Given the description of an element on the screen output the (x, y) to click on. 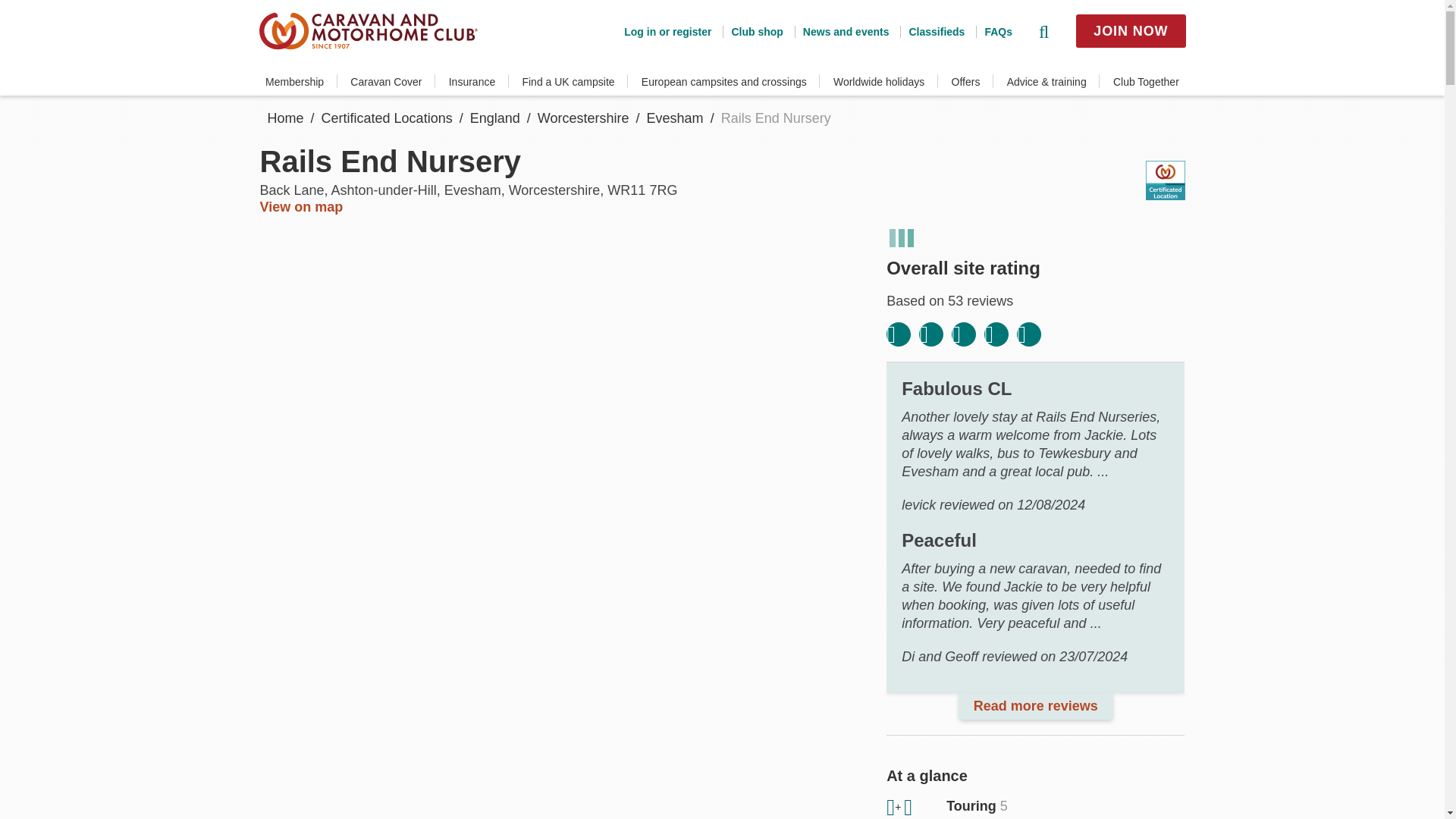
Log in or register (667, 31)
JOIN NOW (1130, 30)
Caravan Cover (386, 81)
News and events (841, 31)
Club shop (752, 31)
Membership (293, 81)
FAQs (993, 31)
Classifieds (931, 31)
Log in or register (667, 31)
